Given the description of an element on the screen output the (x, y) to click on. 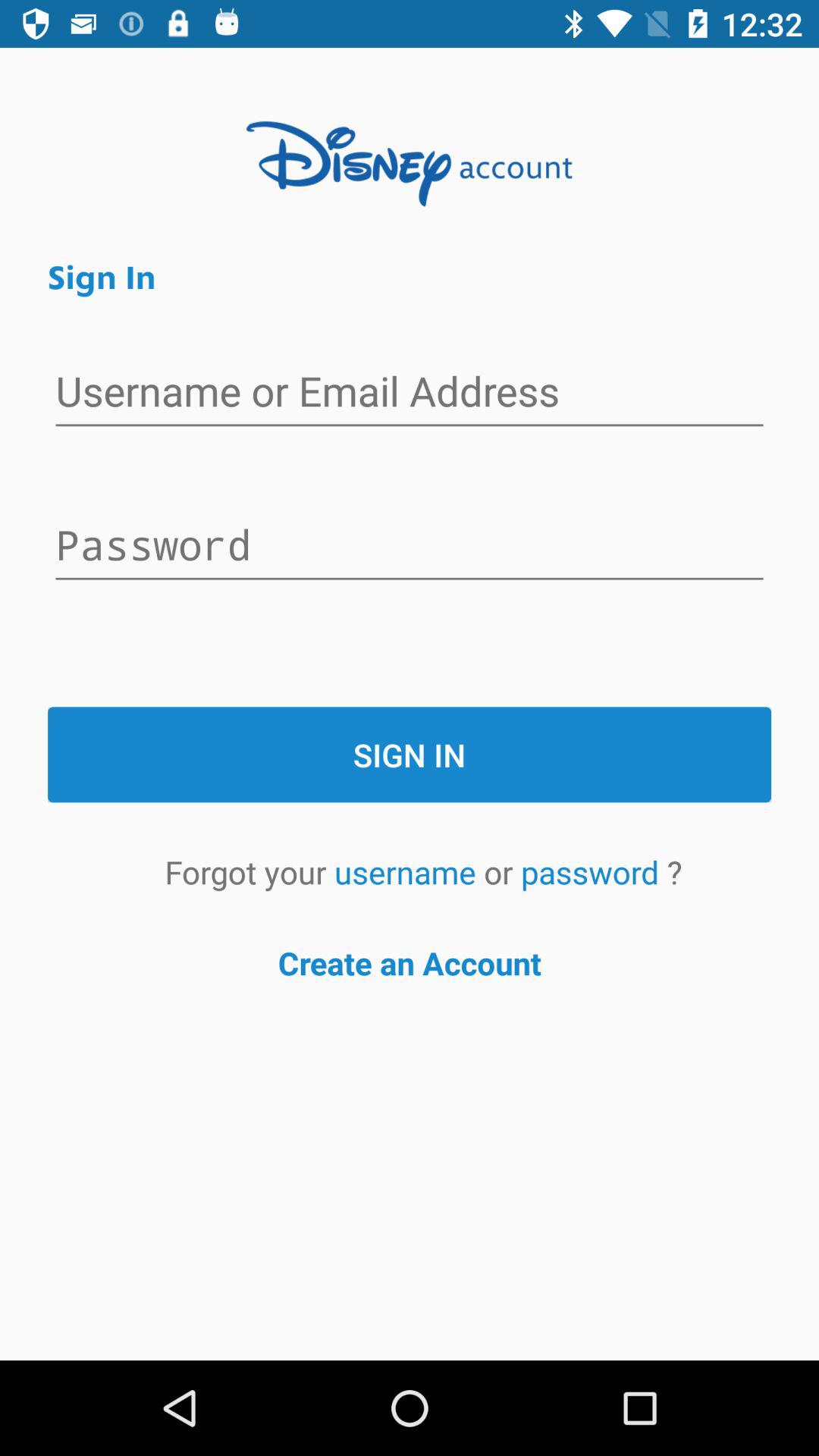
open the username  icon (409, 871)
